Given the description of an element on the screen output the (x, y) to click on. 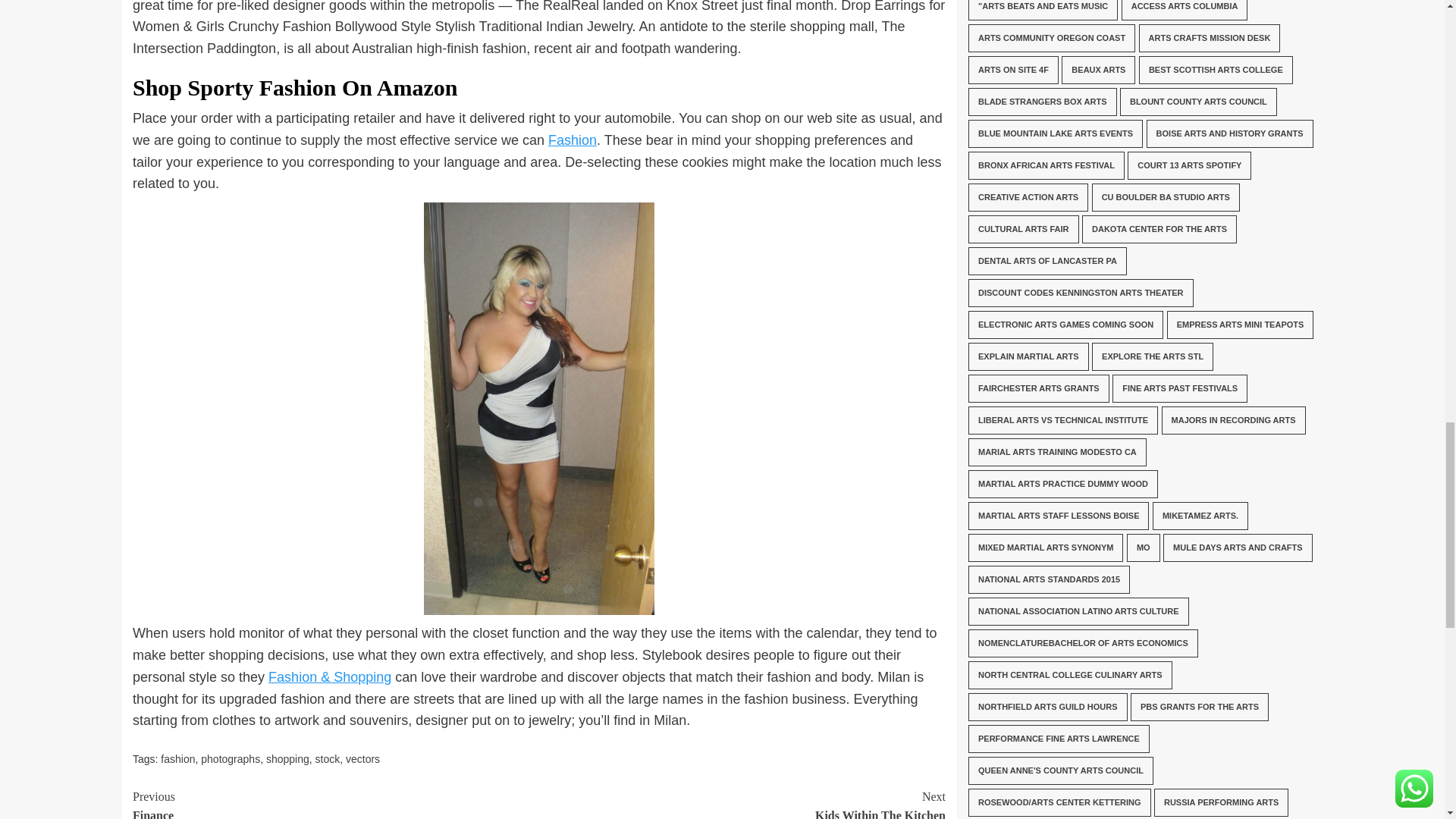
photographs (230, 758)
stock (741, 803)
Fashion (327, 758)
Seedbacklink (335, 803)
fashion (572, 140)
shopping (986, 575)
vectors (177, 758)
